Given the description of an element on the screen output the (x, y) to click on. 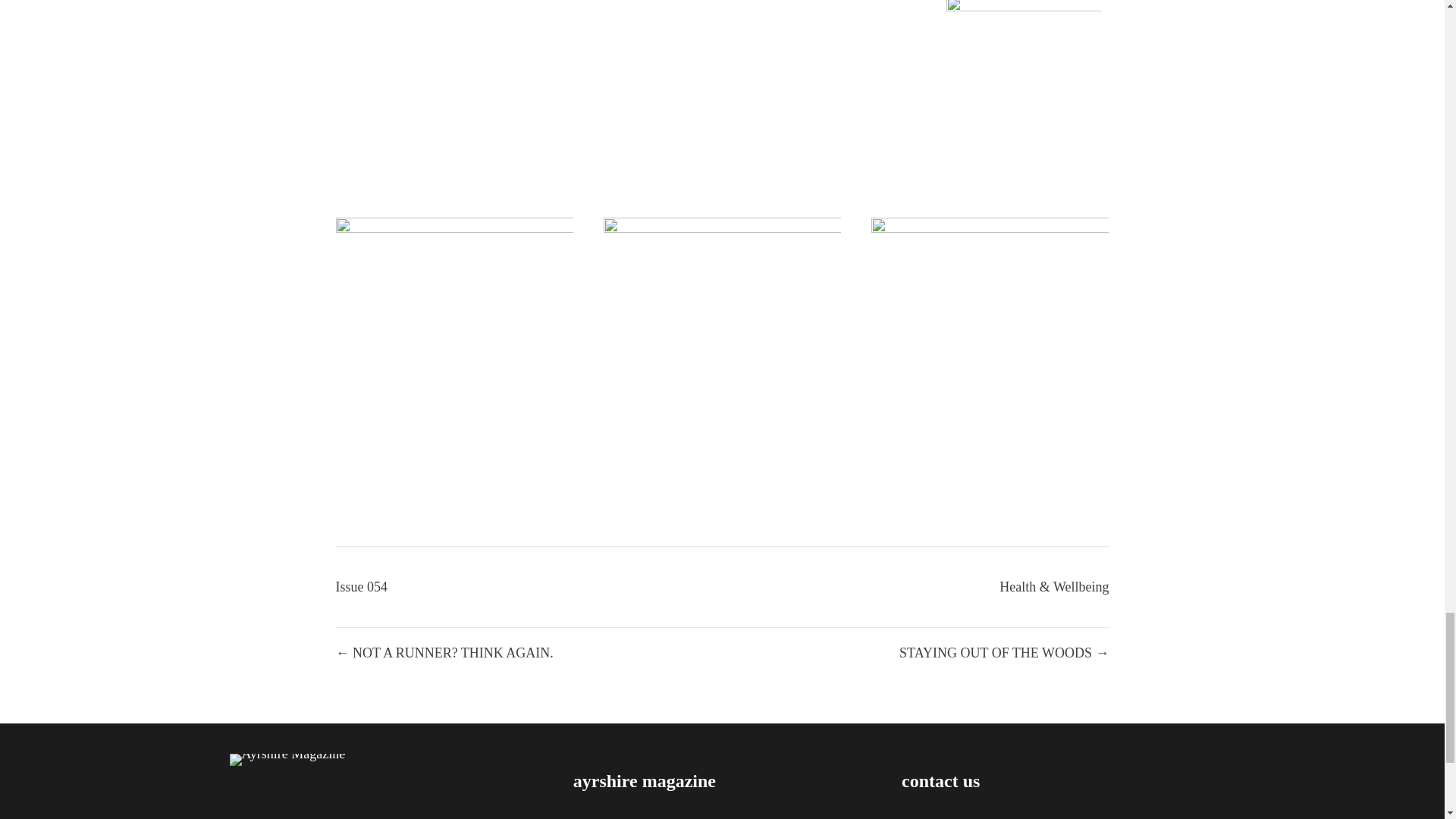
Ayrshire Magazine (286, 759)
